Given the description of an element on the screen output the (x, y) to click on. 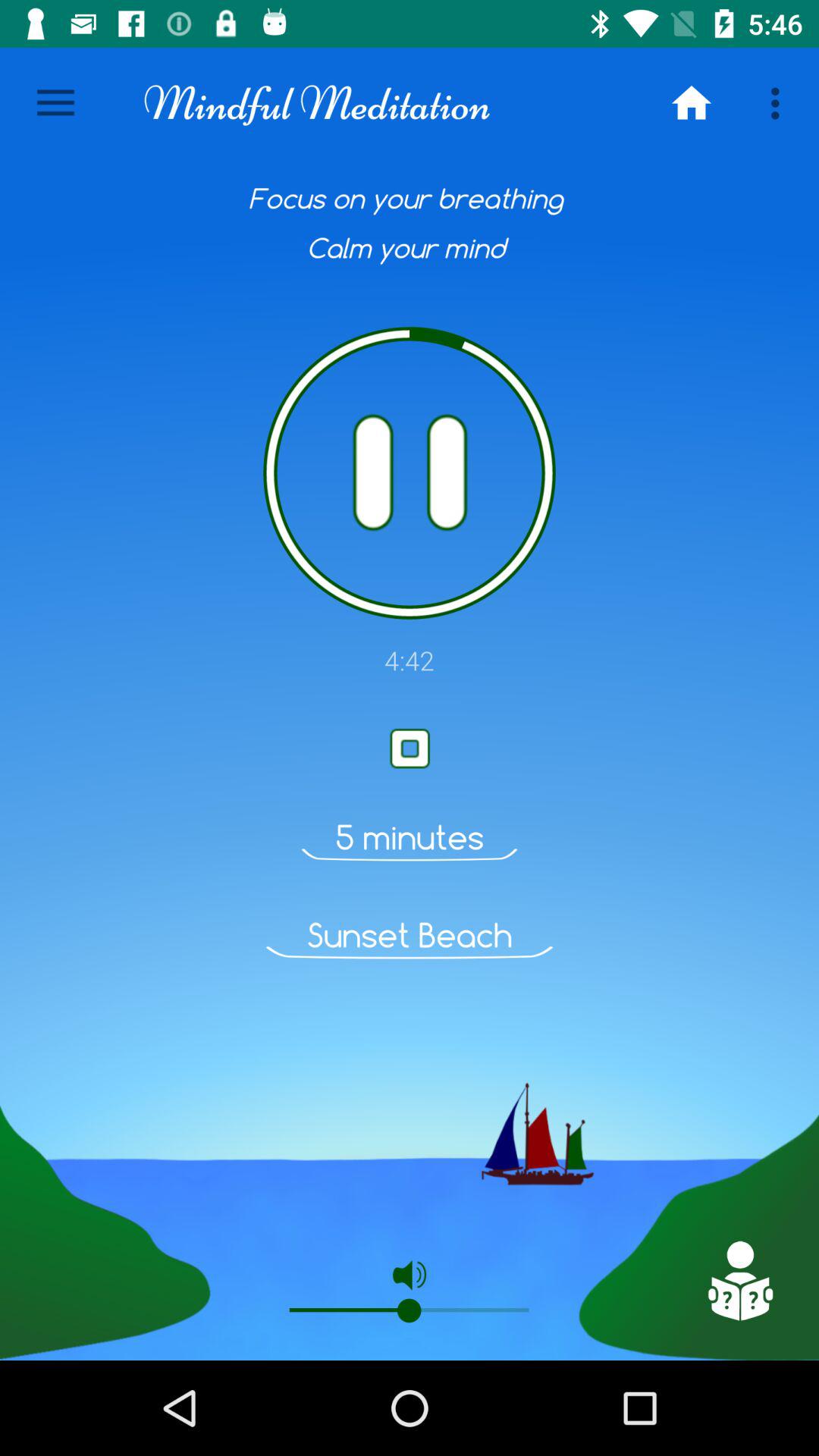
play symbal (409, 472)
